Given the description of an element on the screen output the (x, y) to click on. 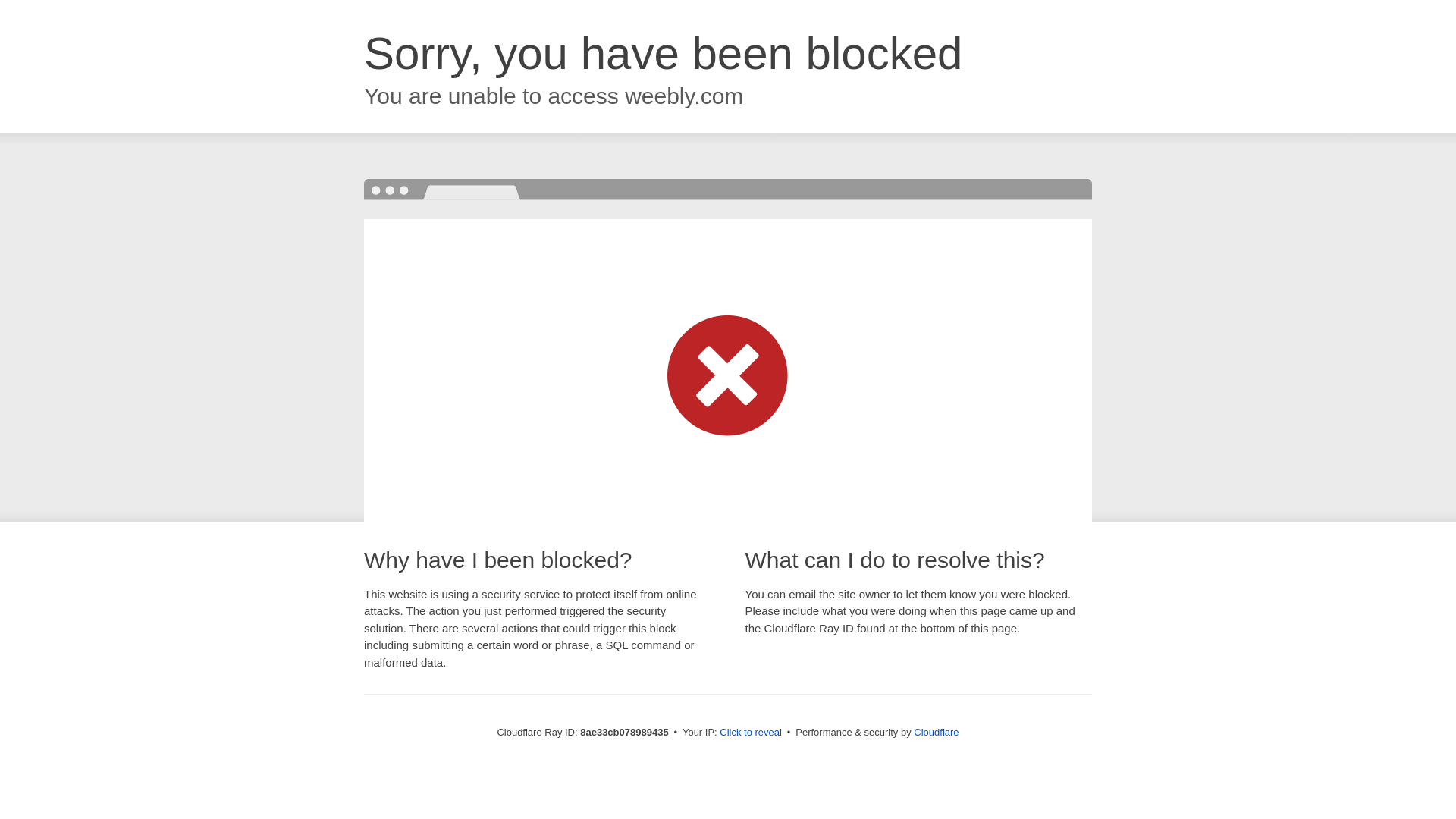
Click to reveal (750, 732)
Cloudflare (936, 731)
